Given the description of an element on the screen output the (x, y) to click on. 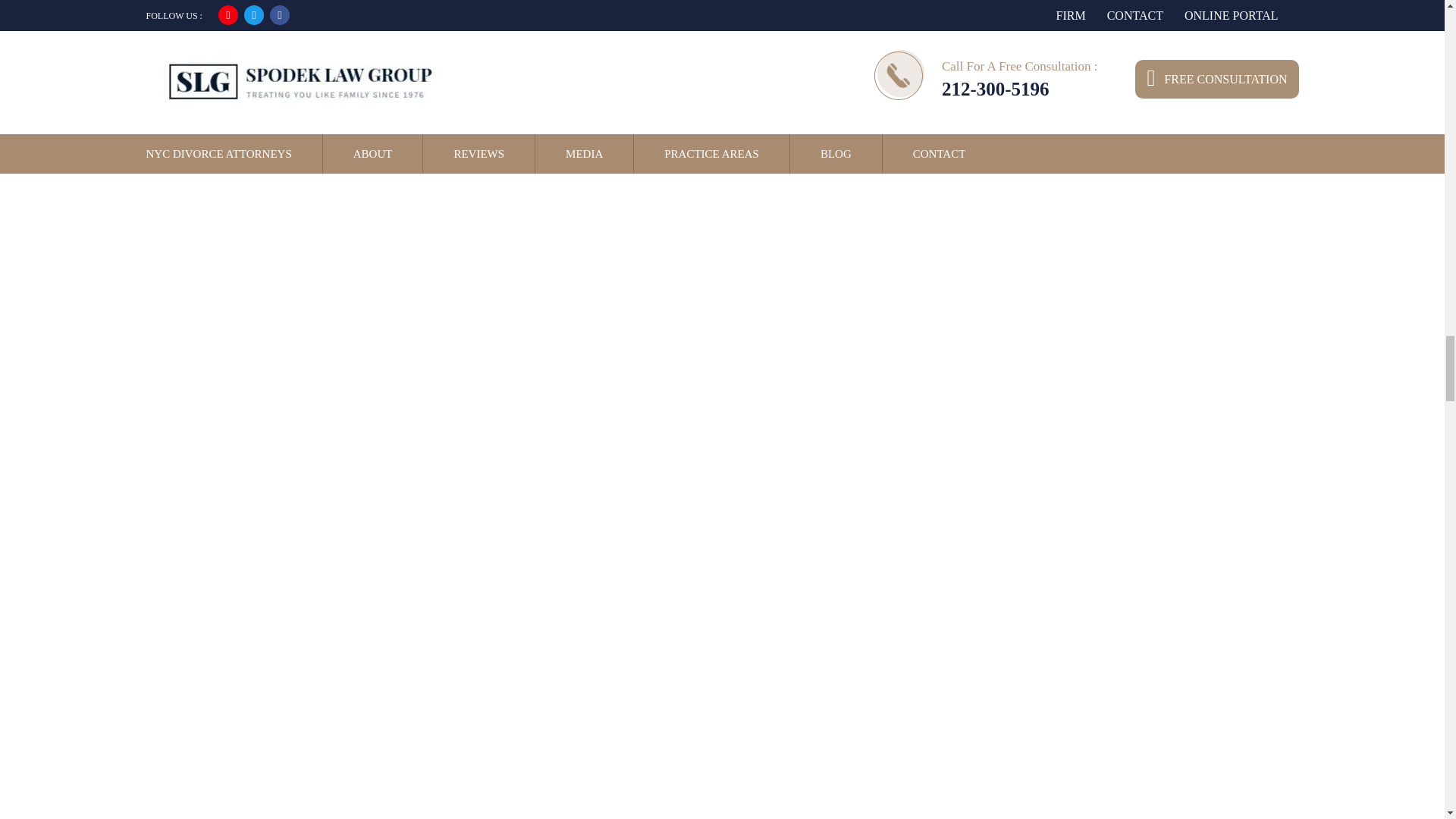
VIDEO: Anna Sorokin posed as Anna Delvey, officials say (334, 26)
